Given the description of an element on the screen output the (x, y) to click on. 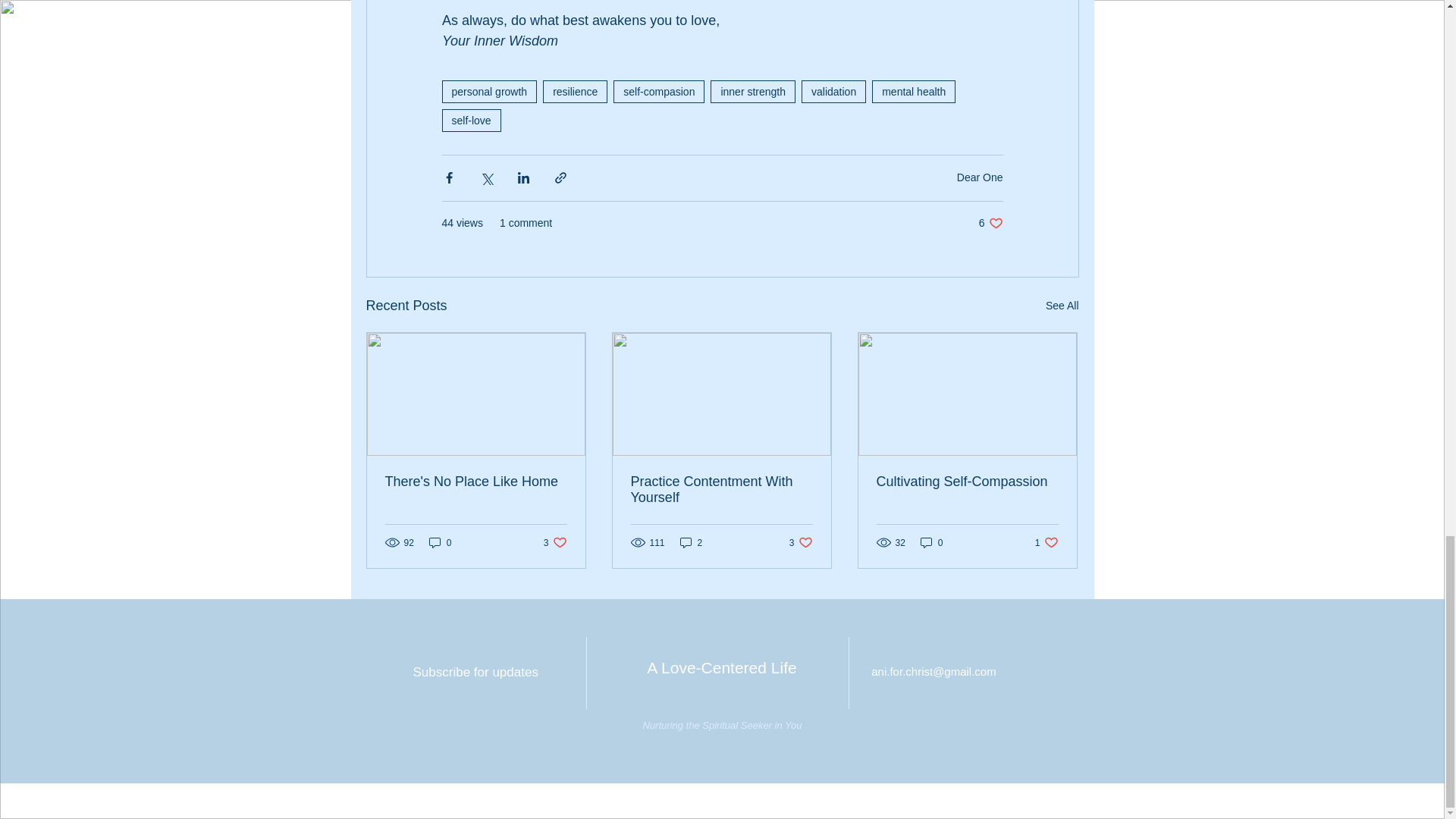
Practice Contentment With Yourself (990, 223)
Dear One (800, 542)
0 (721, 490)
See All (979, 177)
2 (440, 542)
personal growth (1061, 305)
There's No Place Like Home (691, 542)
resilience (489, 91)
inner strength (476, 481)
validation (575, 91)
self-compasion (752, 91)
mental health (834, 91)
